Given the description of an element on the screen output the (x, y) to click on. 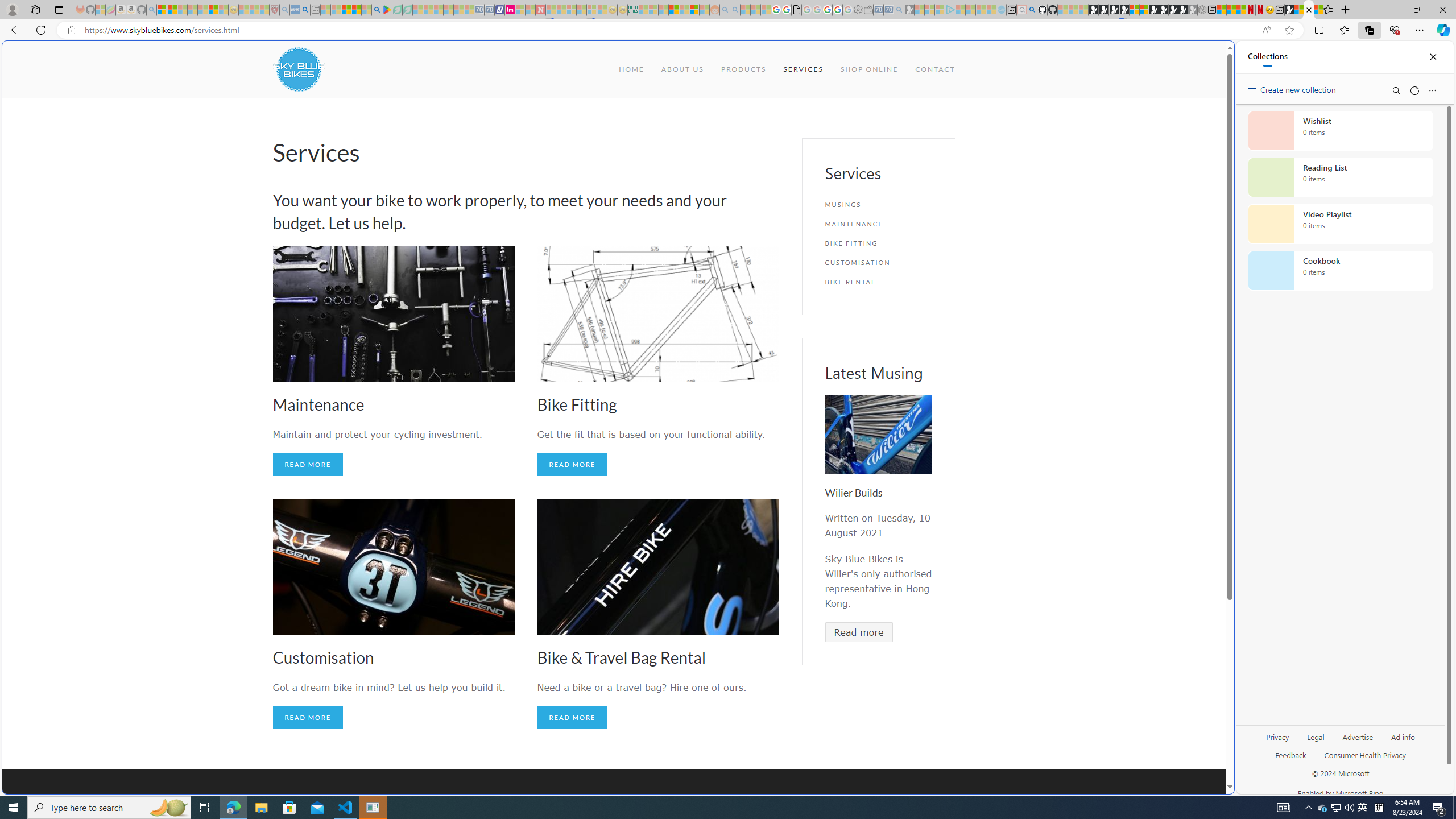
github - Search (1032, 9)
